Given the description of an element on the screen output the (x, y) to click on. 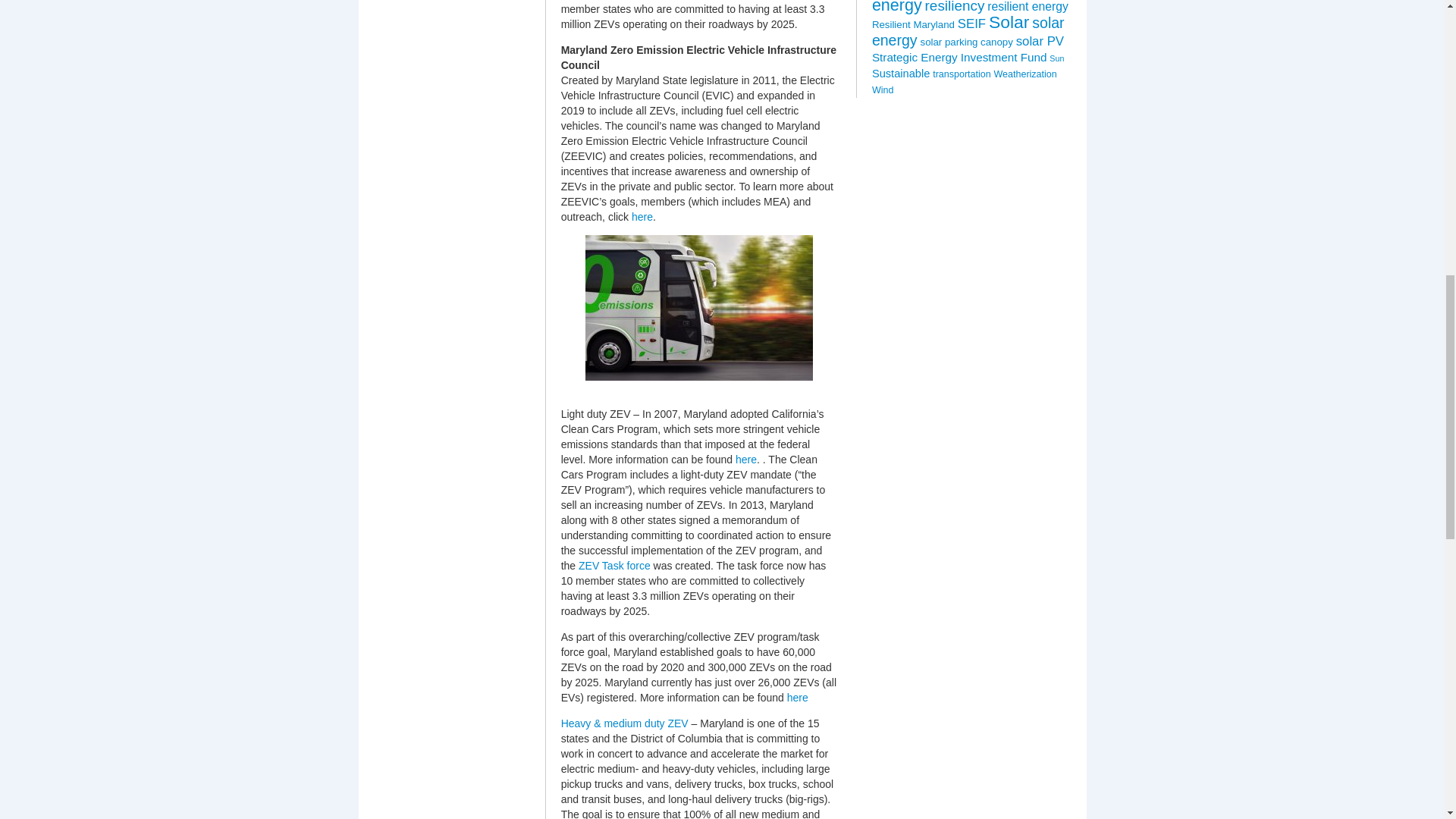
ZEV Task force (614, 565)
here (746, 459)
here (641, 216)
here (797, 697)
